Given the description of an element on the screen output the (x, y) to click on. 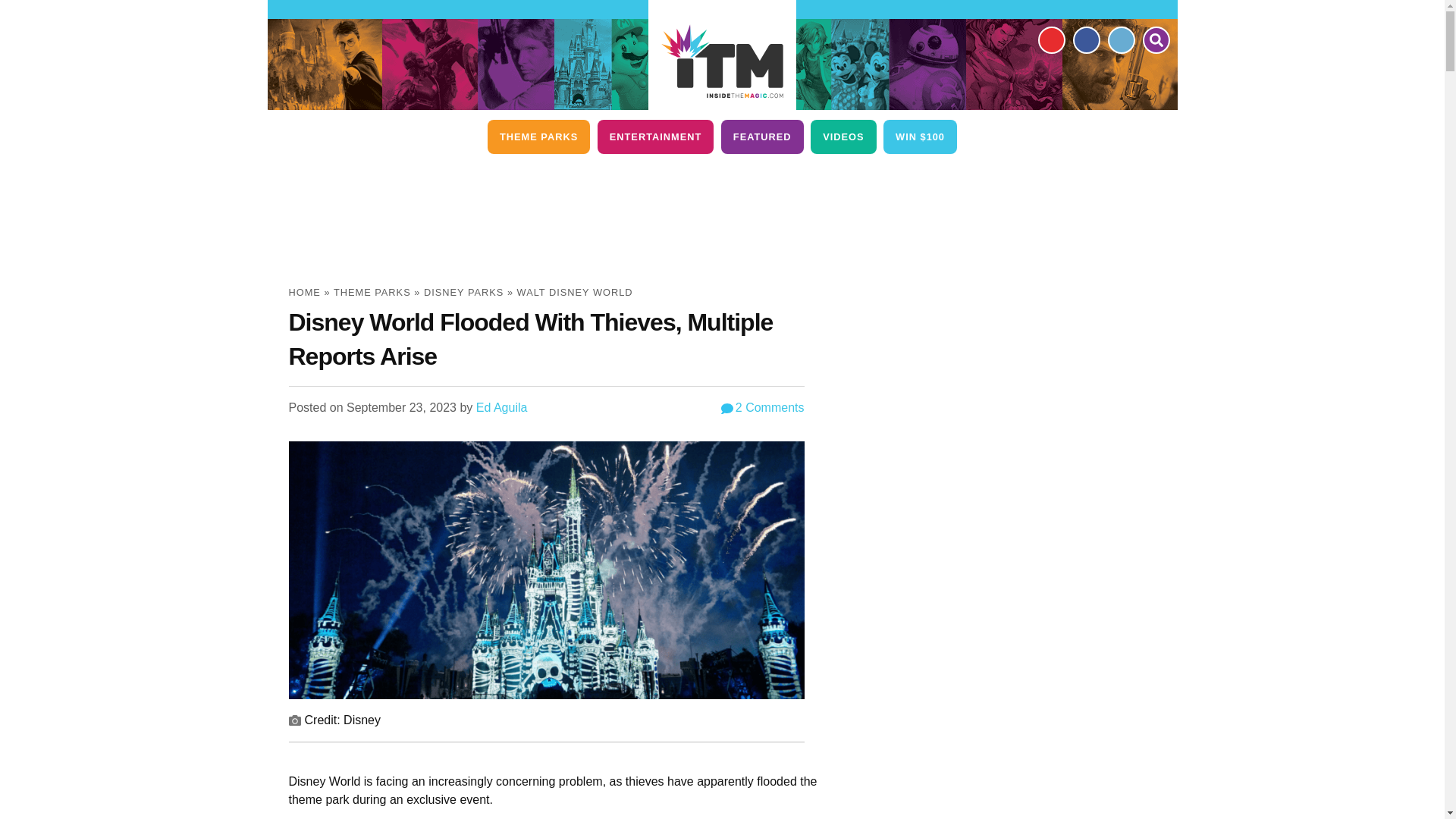
FEATURED (761, 136)
THEME PARKS (538, 136)
Search (1155, 40)
YouTube (1050, 40)
ENTERTAINMENT (655, 136)
Twitter (1120, 40)
Facebook (1085, 40)
